Given the description of an element on the screen output the (x, y) to click on. 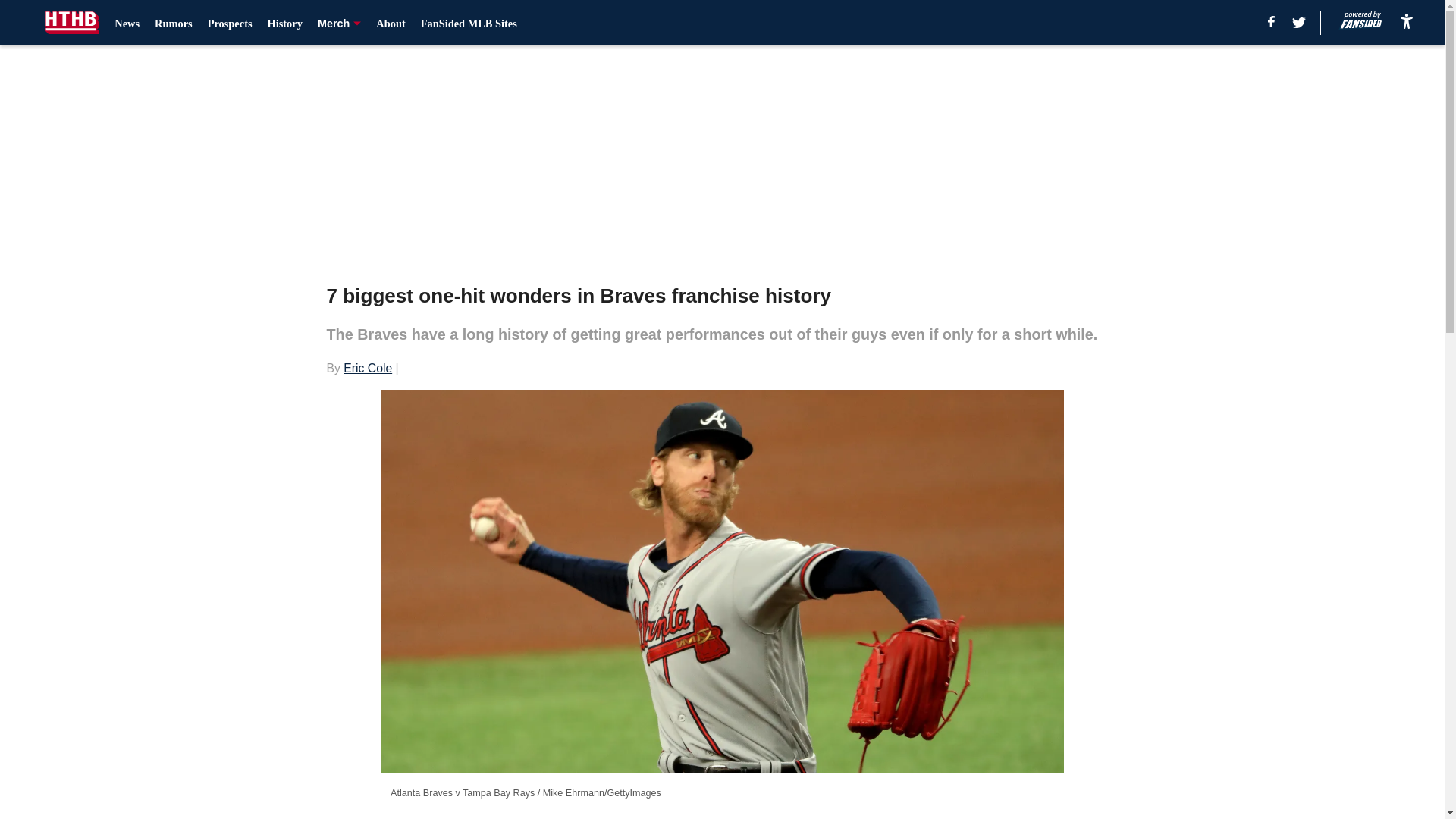
History (284, 23)
Eric Cole (367, 367)
News (127, 23)
FanSided MLB Sites (468, 23)
Prospects (229, 23)
About (389, 23)
Rumors (173, 23)
